Given the description of an element on the screen output the (x, y) to click on. 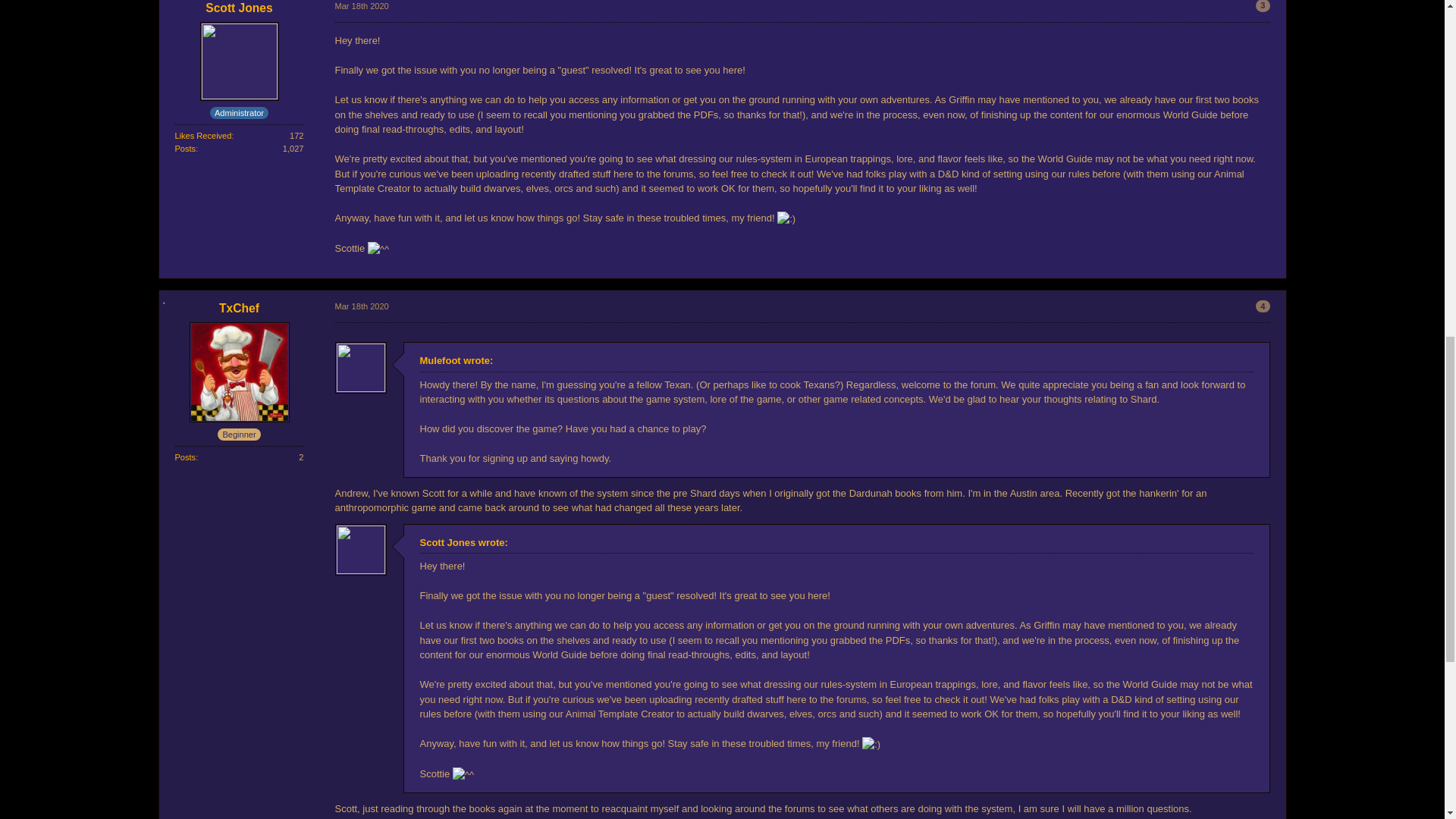
Display Posts by Scott Jones (184, 148)
Display Likes Received by Scott Jones (202, 135)
Posts (184, 148)
Likes Received (202, 135)
Mar 18th 2020 (361, 5)
Scott Jones (238, 7)
3 (1262, 5)
Share (1262, 5)
